Given the description of an element on the screen output the (x, y) to click on. 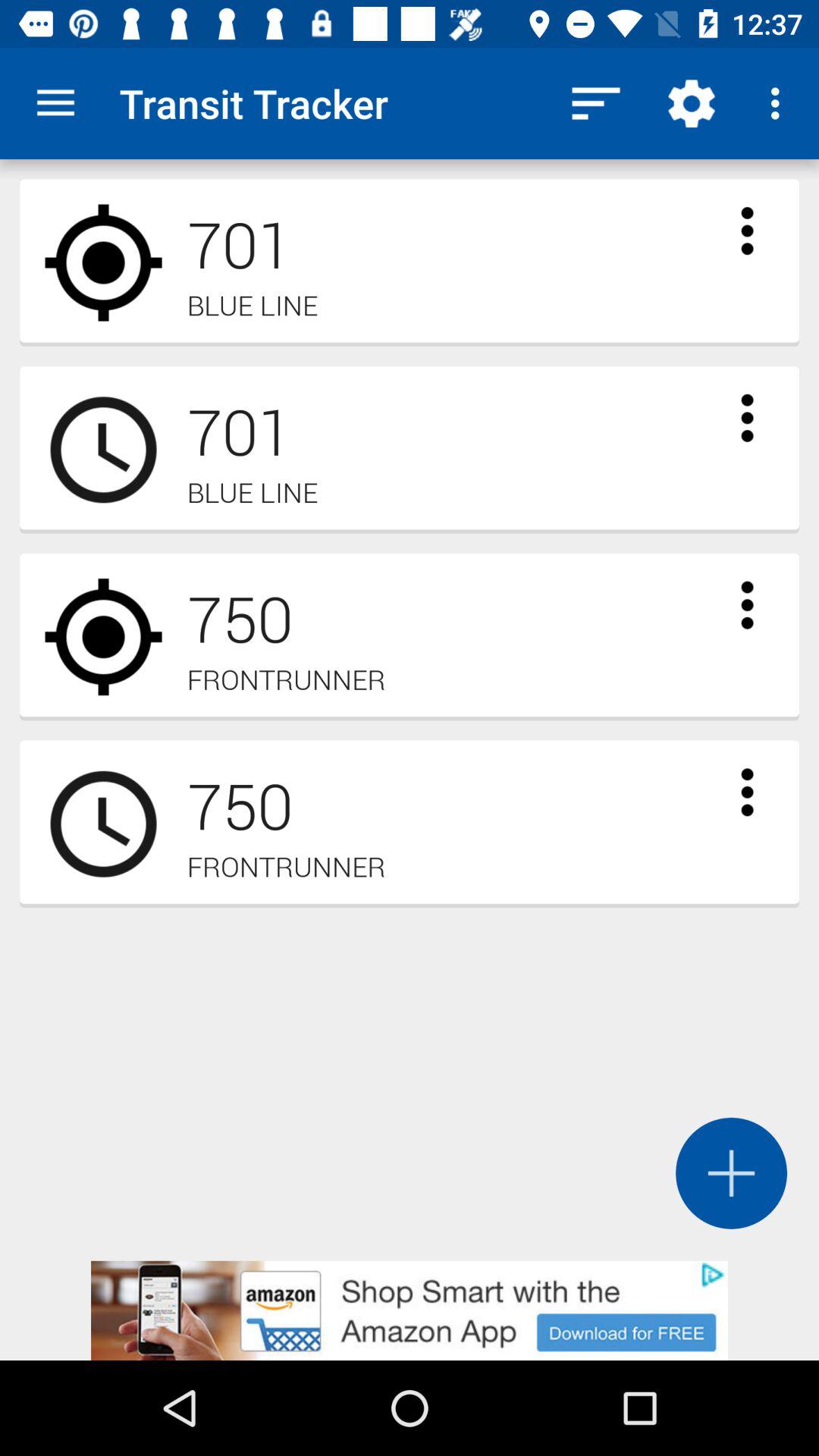
open options (747, 417)
